Given the description of an element on the screen output the (x, y) to click on. 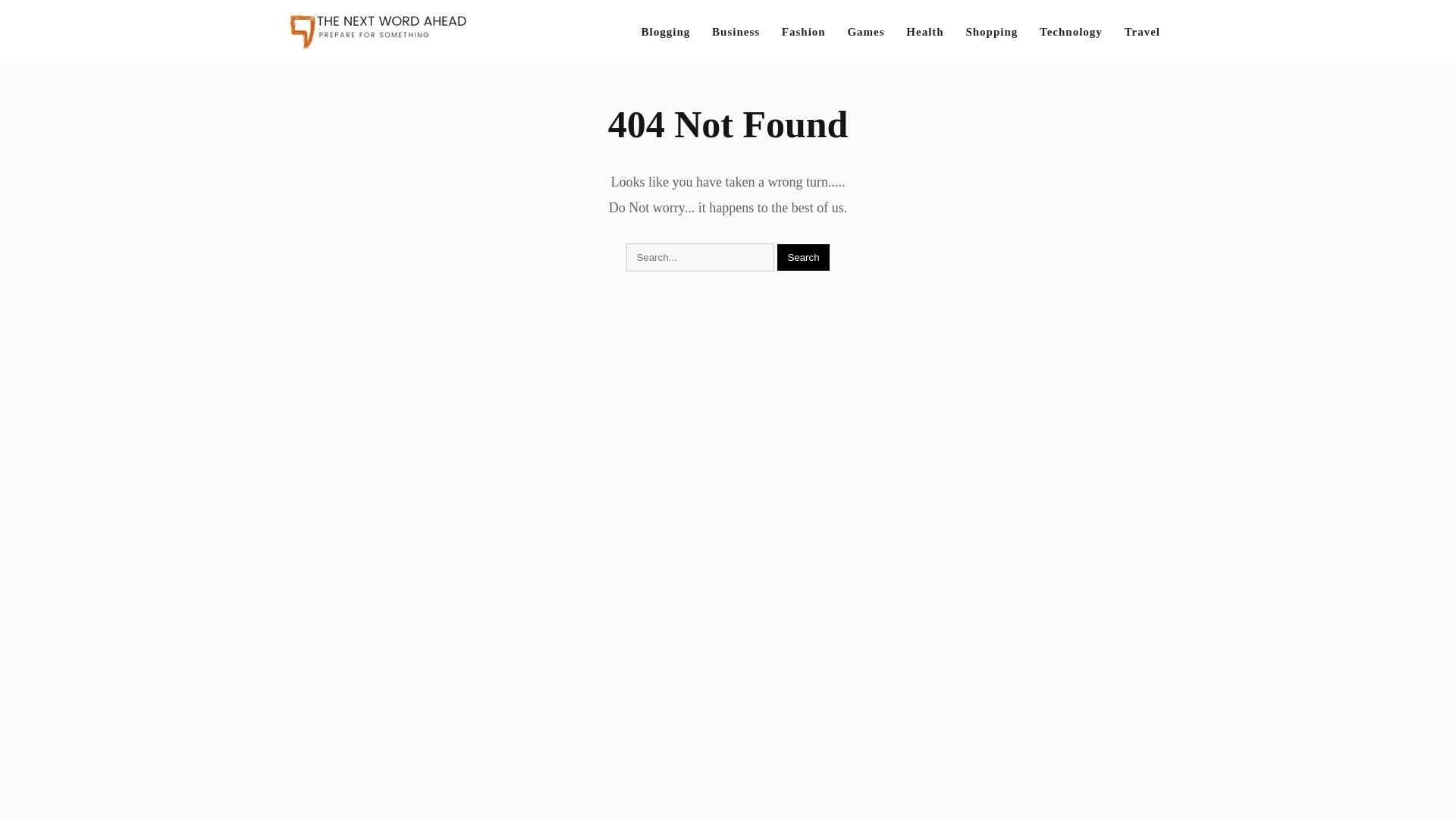
Search (802, 257)
Search (802, 257)
The Next Word Ahead (366, 84)
Fashion (803, 32)
Business (735, 32)
Technology (1070, 32)
Blogging (665, 32)
Shopping (991, 32)
Search (802, 257)
